Given the description of an element on the screen output the (x, y) to click on. 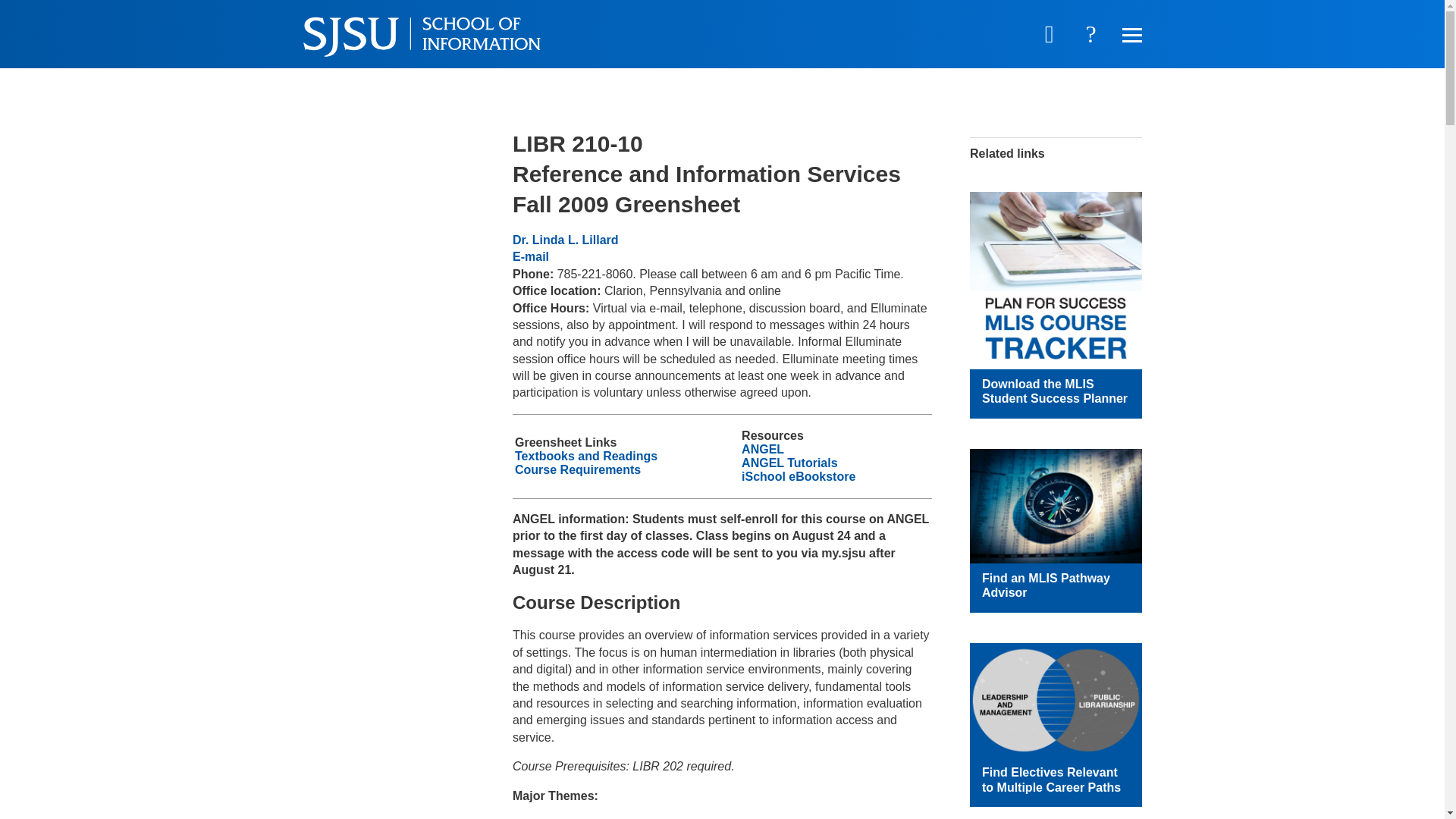
iSchool eBookstore (798, 476)
Dr. Linda L. Lillard (565, 239)
Textbooks and Readings (586, 455)
E-mail (530, 256)
Course Requirements (577, 469)
ANGEL Tutorials (789, 462)
ANGEL (762, 449)
